Given the description of an element on the screen output the (x, y) to click on. 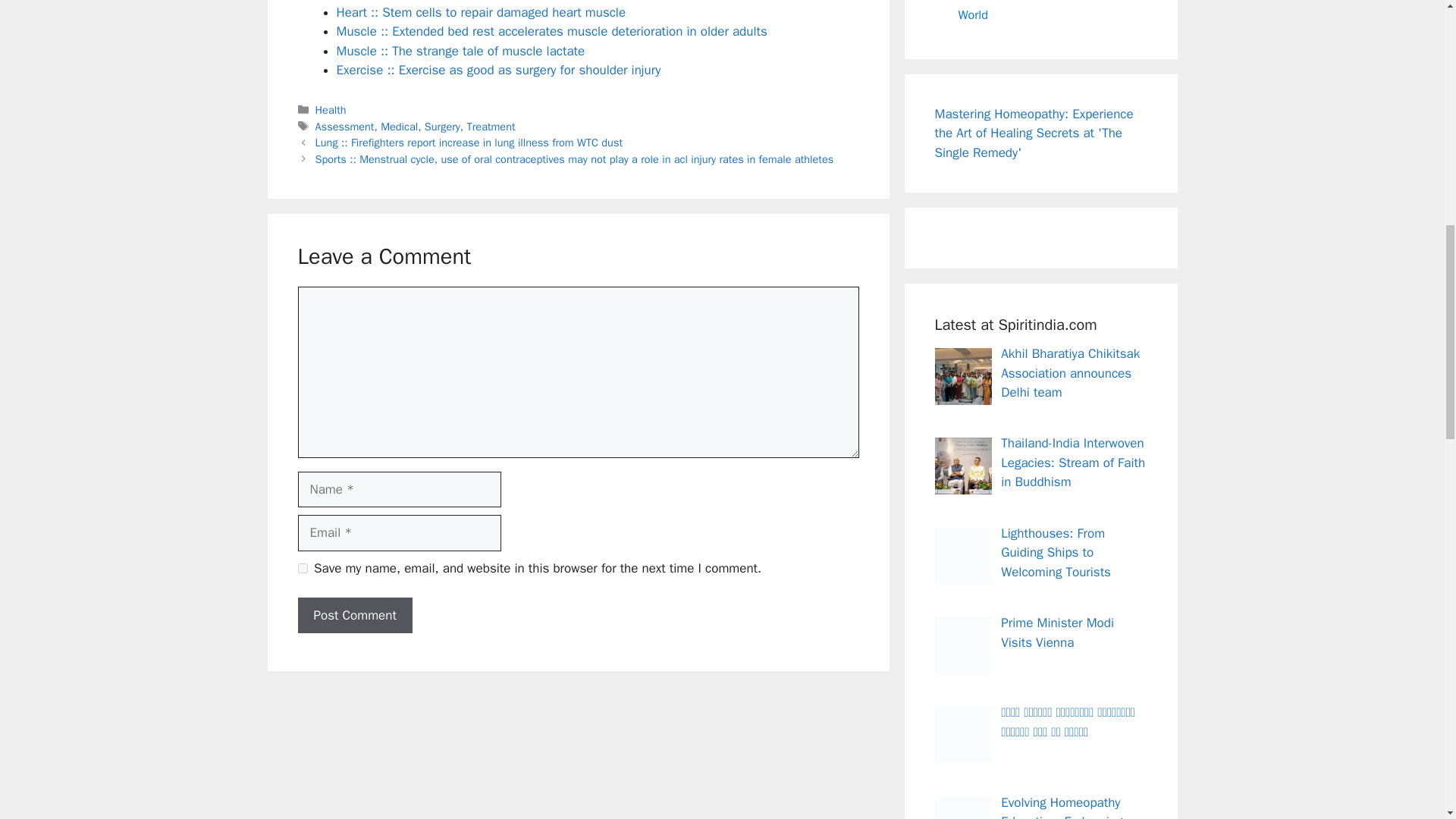
Heart :: Stem cells to repair damaged heart muscle (481, 12)
Health (330, 110)
Post Comment (354, 615)
Assessment (344, 126)
Treatment (491, 126)
Surgery (442, 126)
yes (302, 568)
Medical (398, 126)
Exercise :: Exercise as good as surgery for shoulder injury (498, 69)
Muscle :: The strange tale of muscle lactate (460, 50)
Post Comment (354, 615)
